Given the description of an element on the screen output the (x, y) to click on. 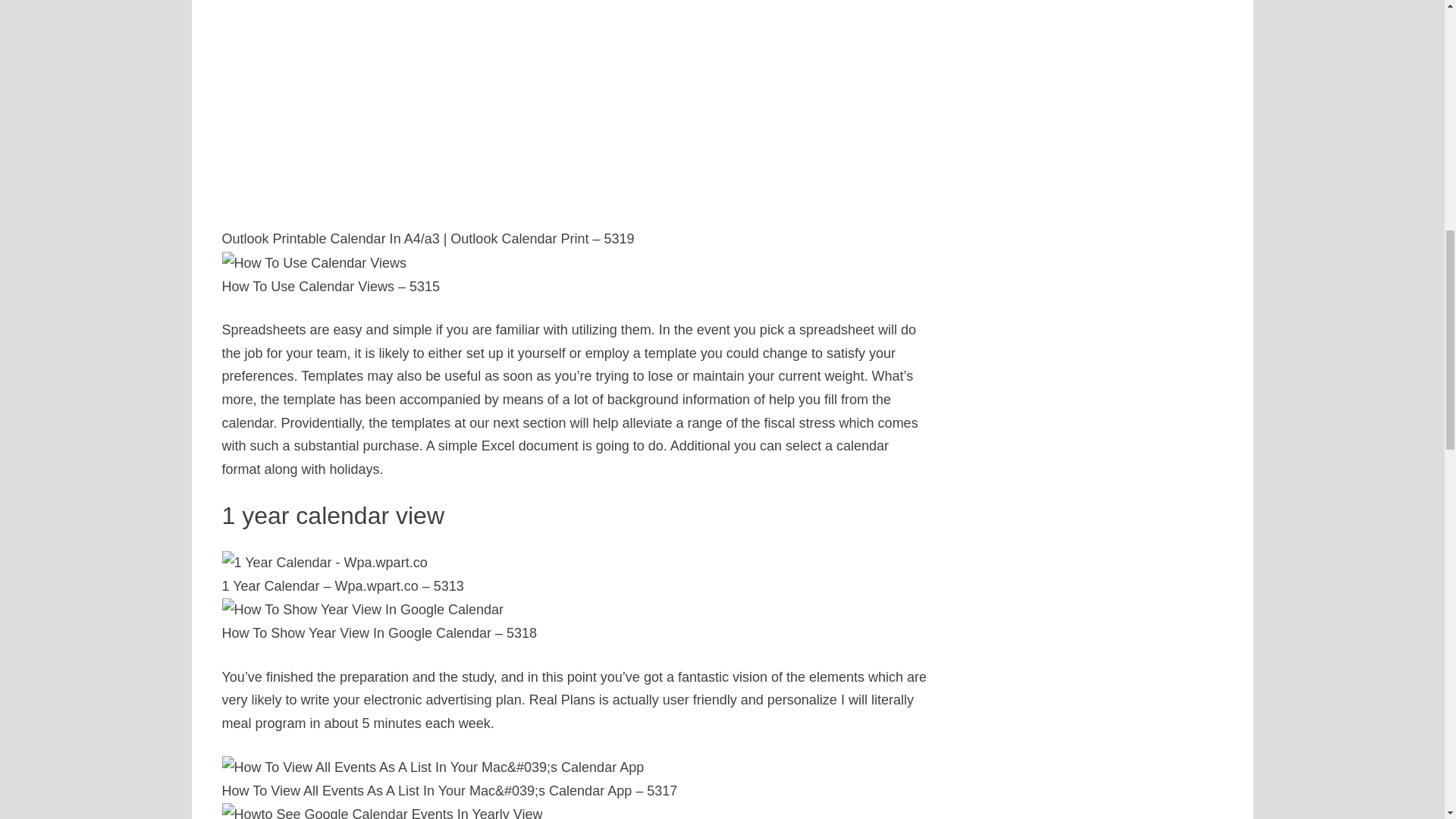
How To Use Calendar Views (313, 263)
How To Show Year View In Google Calendar (362, 609)
Howto See Google Calendar Events In Yearly View (381, 811)
1 Year Calendar - Wpa.wpart.co (323, 562)
